Given the description of an element on the screen output the (x, y) to click on. 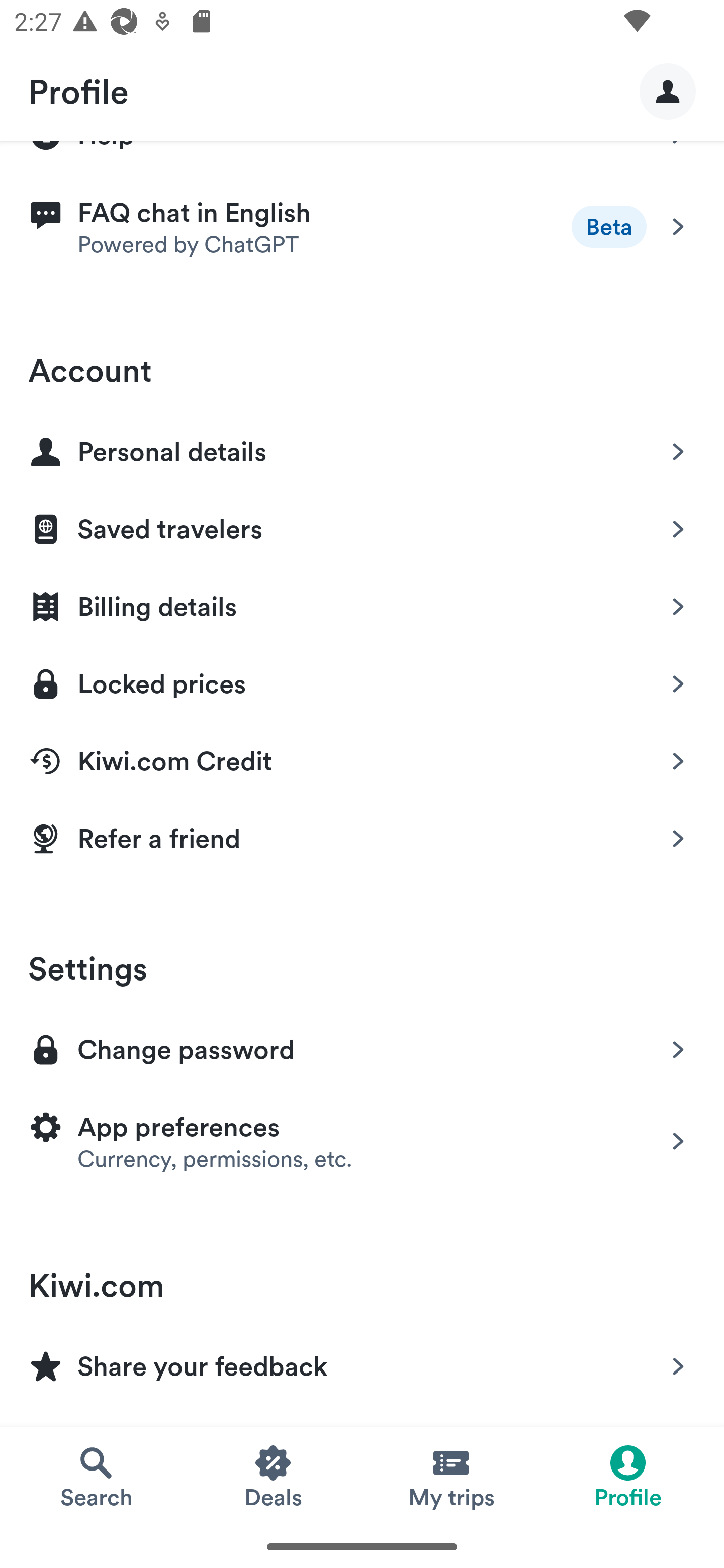
profile picture (667, 90)
Beta FAQ chat in English Powered by ChatGPT (362, 226)
Personal details (362, 448)
Saved travelers (362, 525)
Billing details (362, 602)
Locked prices (362, 680)
Kiwi.com Credit (362, 757)
Refer a friend (362, 838)
Change password (362, 1048)
App preferences Currency, permissions, etc. (362, 1141)
Share your feedback (362, 1362)
Search (95, 1475)
Deals (273, 1475)
My trips (450, 1475)
